Given the description of an element on the screen output the (x, y) to click on. 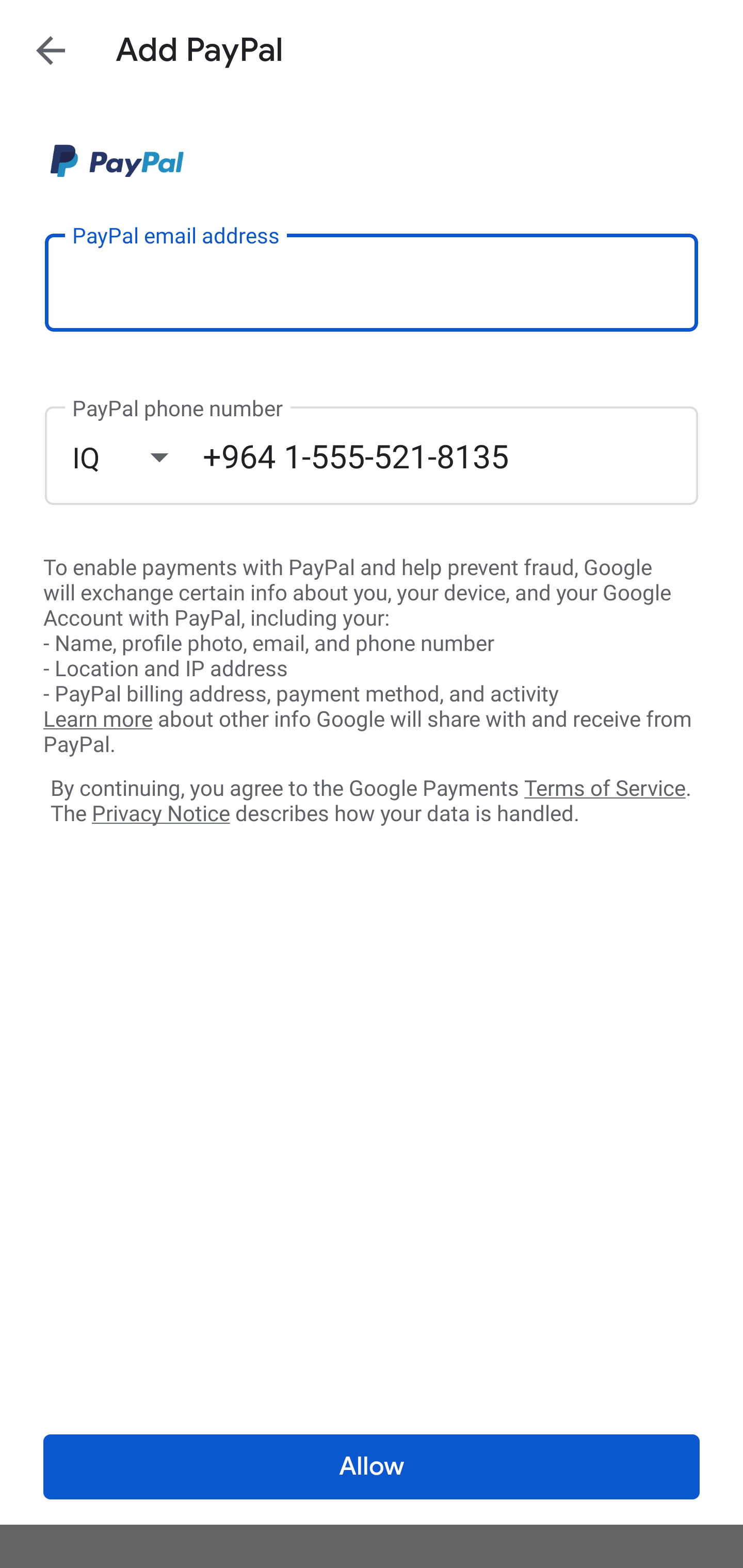
Navigate up (50, 50)
PayPal email address (371, 282)
IQ (137, 456)
Learn more (97, 719)
Terms of Service (604, 787)
Privacy Notice (160, 814)
Allow (371, 1466)
